Given the description of an element on the screen output the (x, y) to click on. 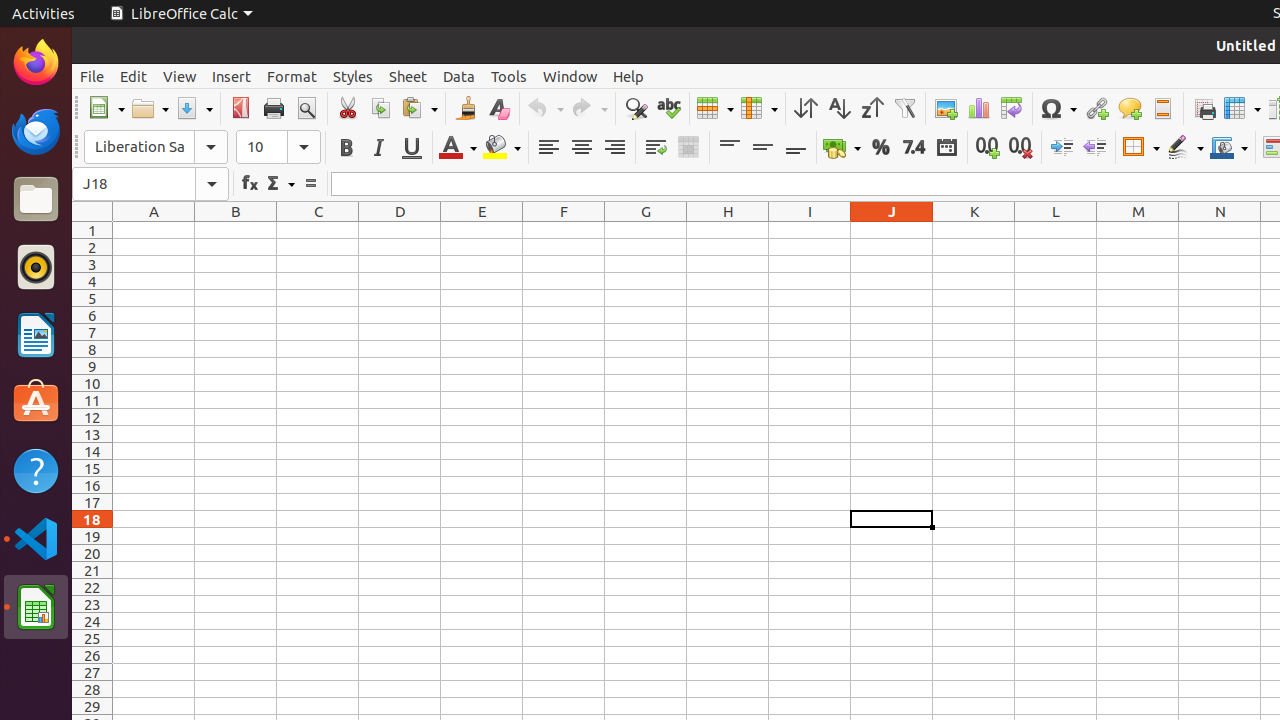
Underline Element type: push-button (411, 147)
LibreOffice Calc Element type: push-button (36, 607)
G1 Element type: table-cell (646, 230)
Row Element type: push-button (715, 108)
Delete Decimal Place Element type: push-button (1020, 147)
